Given the description of an element on the screen output the (x, y) to click on. 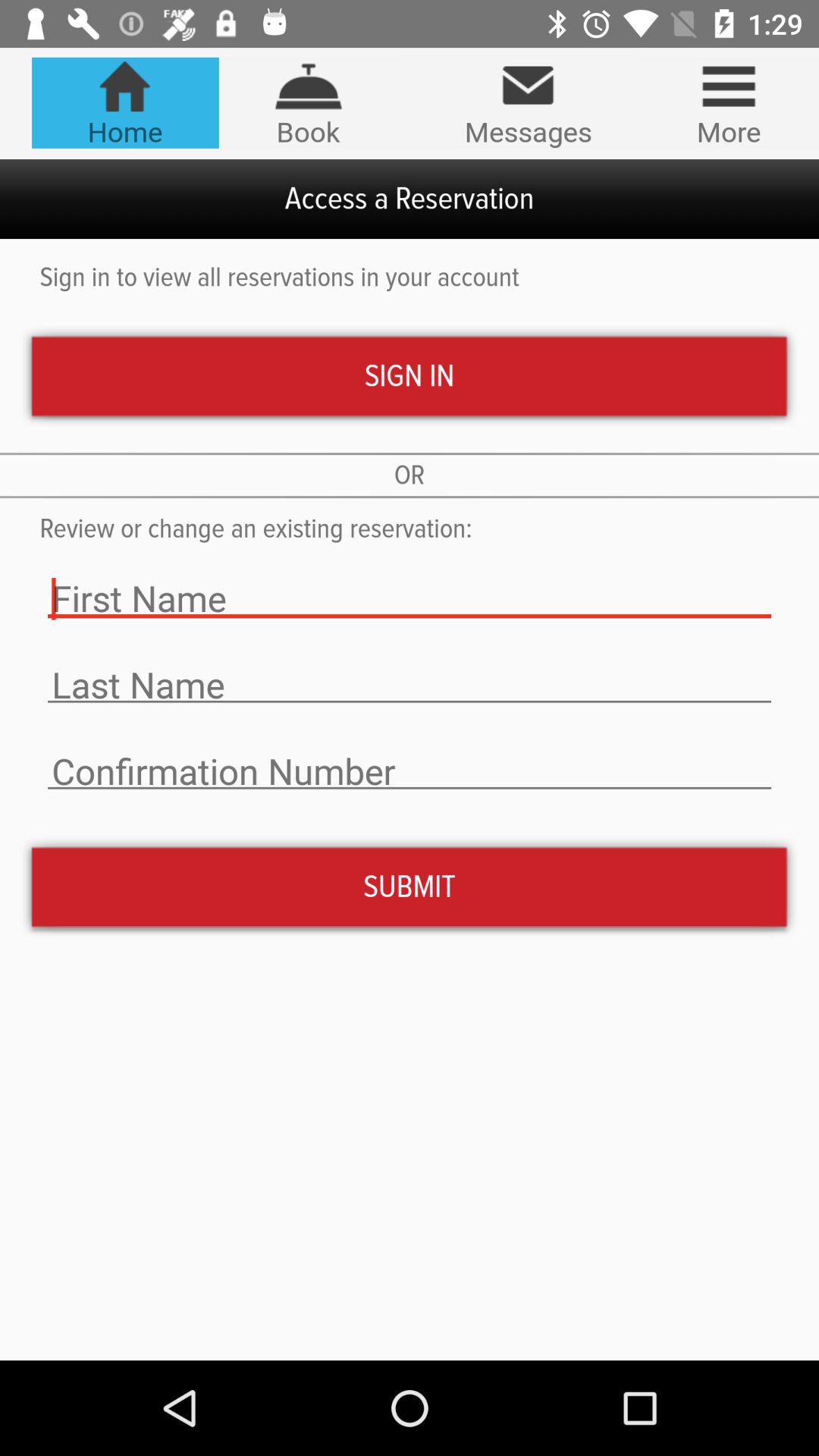
enter mobile no (409, 771)
